Given the description of an element on the screen output the (x, y) to click on. 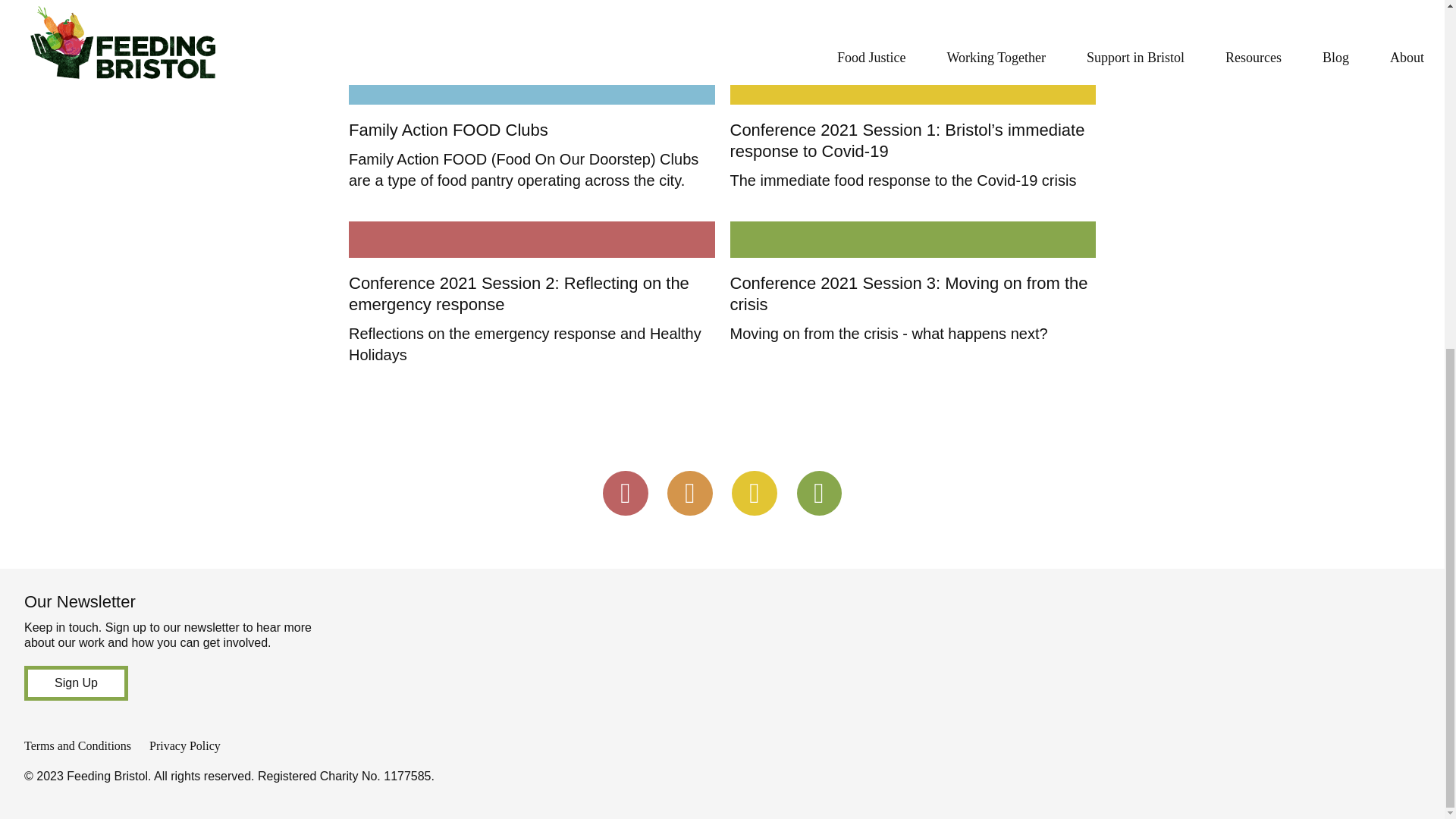
Family Action FOOD Clubs (531, 86)
HAF Dietary Requirements Food Webinar (883, 3)
Youth Work (391, 3)
